Given the description of an element on the screen output the (x, y) to click on. 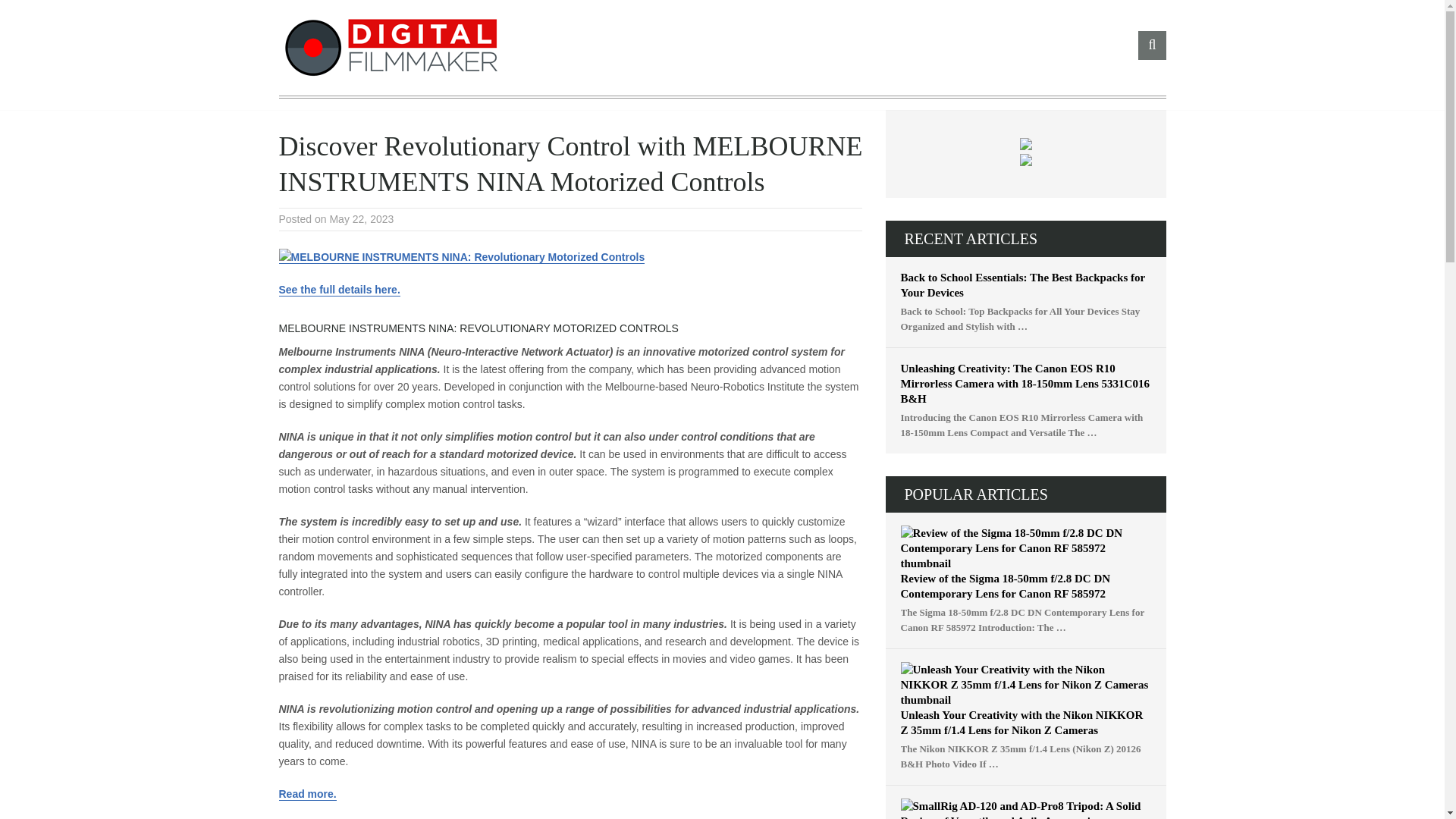
Read more. (307, 793)
See the full details here. (339, 289)
